Given the description of an element on the screen output the (x, y) to click on. 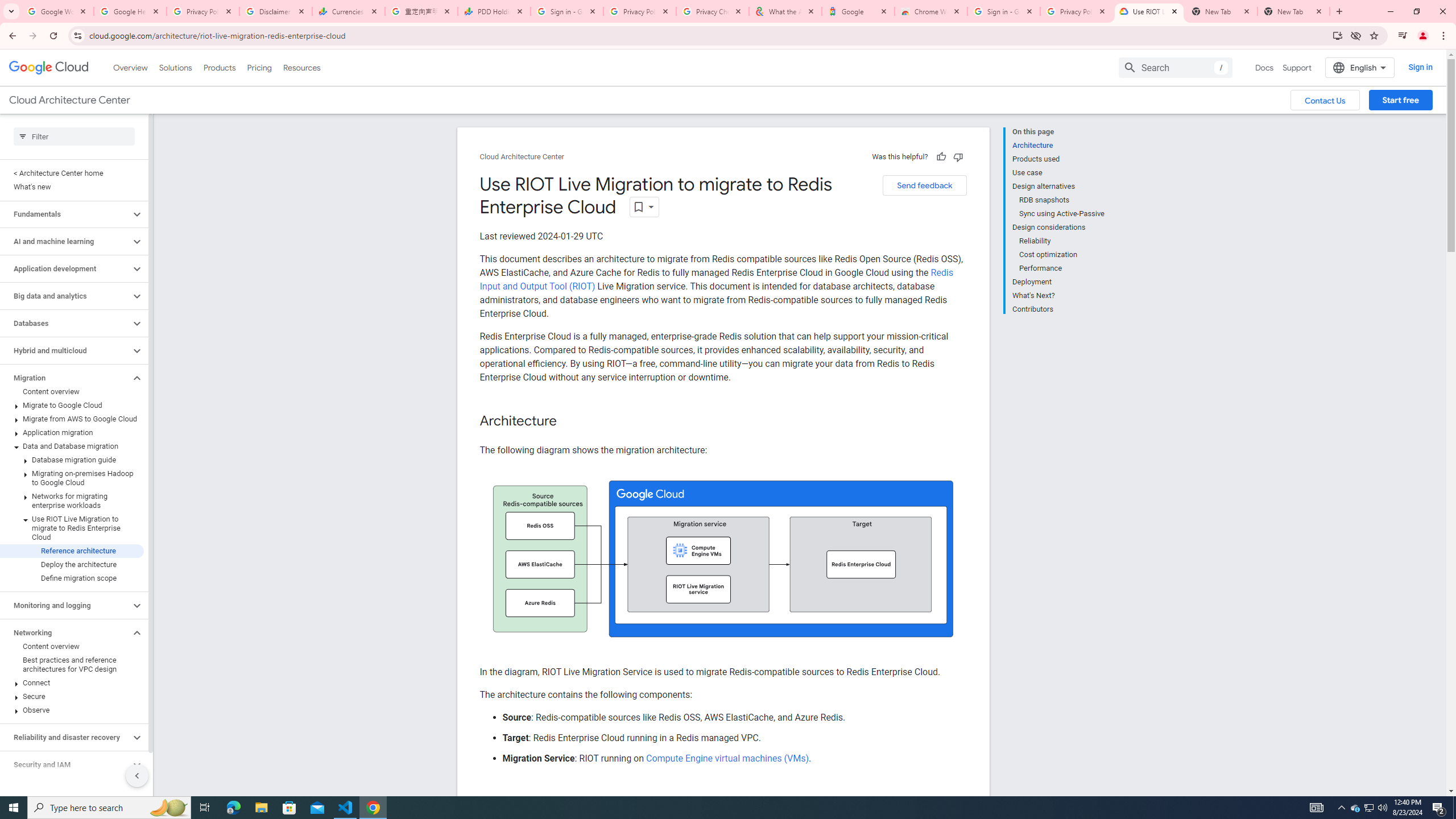
Architecture (1058, 145)
Connect (72, 682)
Contributors (1058, 307)
Migrate from AWS to Google Cloud (72, 418)
Send feedback (924, 185)
Reliability and disaster recovery (64, 737)
Deploy the architecture (72, 564)
Migration (64, 377)
Currencies - Google Finance (348, 11)
Deployment (1058, 282)
Data and Database migration (72, 445)
Design considerations (1058, 227)
Monitoring and logging (64, 605)
